Given the description of an element on the screen output the (x, y) to click on. 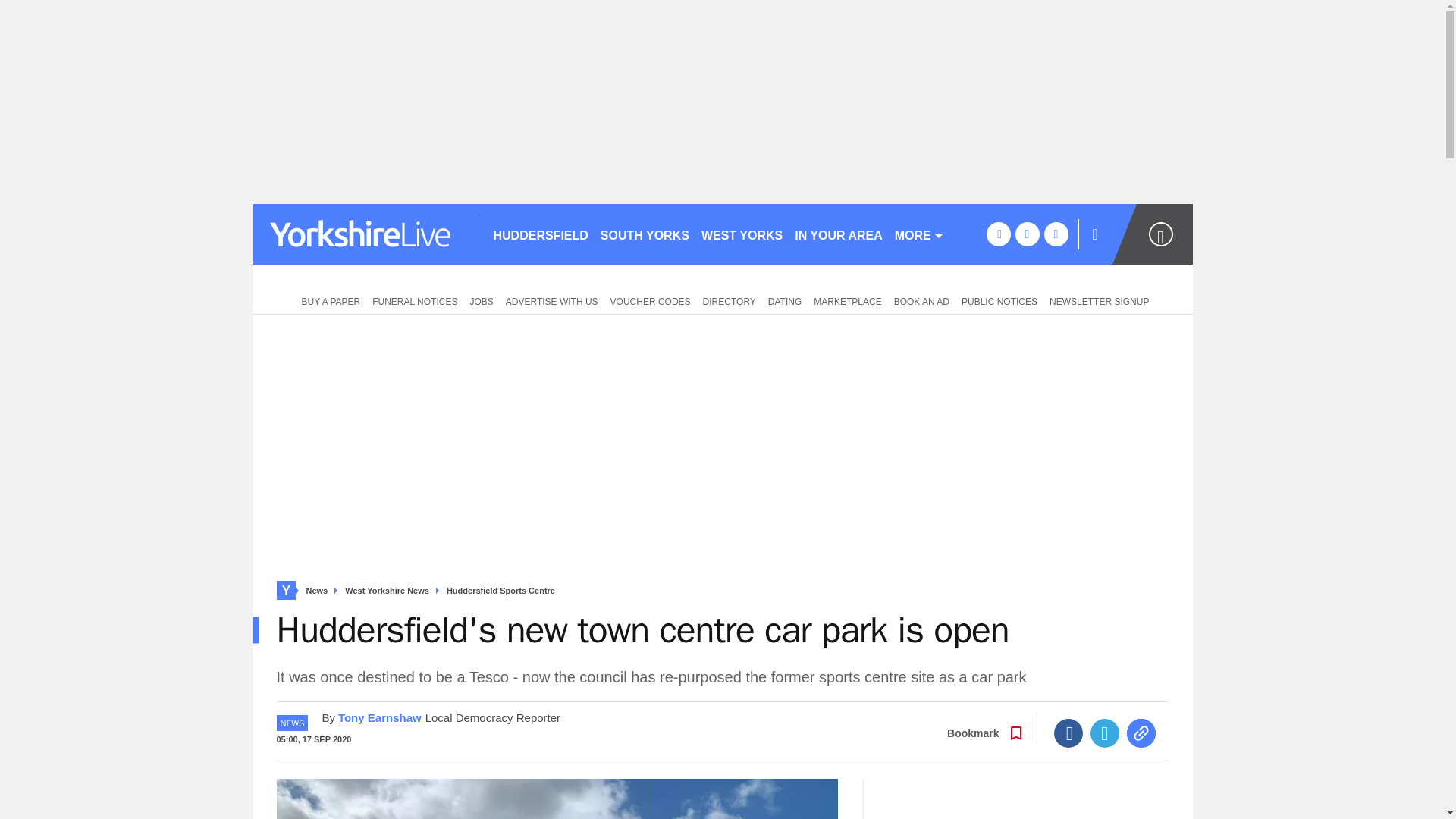
SOUTH YORKS (644, 233)
IN YOUR AREA (838, 233)
twitter (1026, 233)
huddersfieldexaminer (365, 233)
facebook (997, 233)
Twitter (1104, 733)
instagram (1055, 233)
Facebook (1068, 733)
MORE (919, 233)
WEST YORKS (742, 233)
HUDDERSFIELD (540, 233)
